Given the description of an element on the screen output the (x, y) to click on. 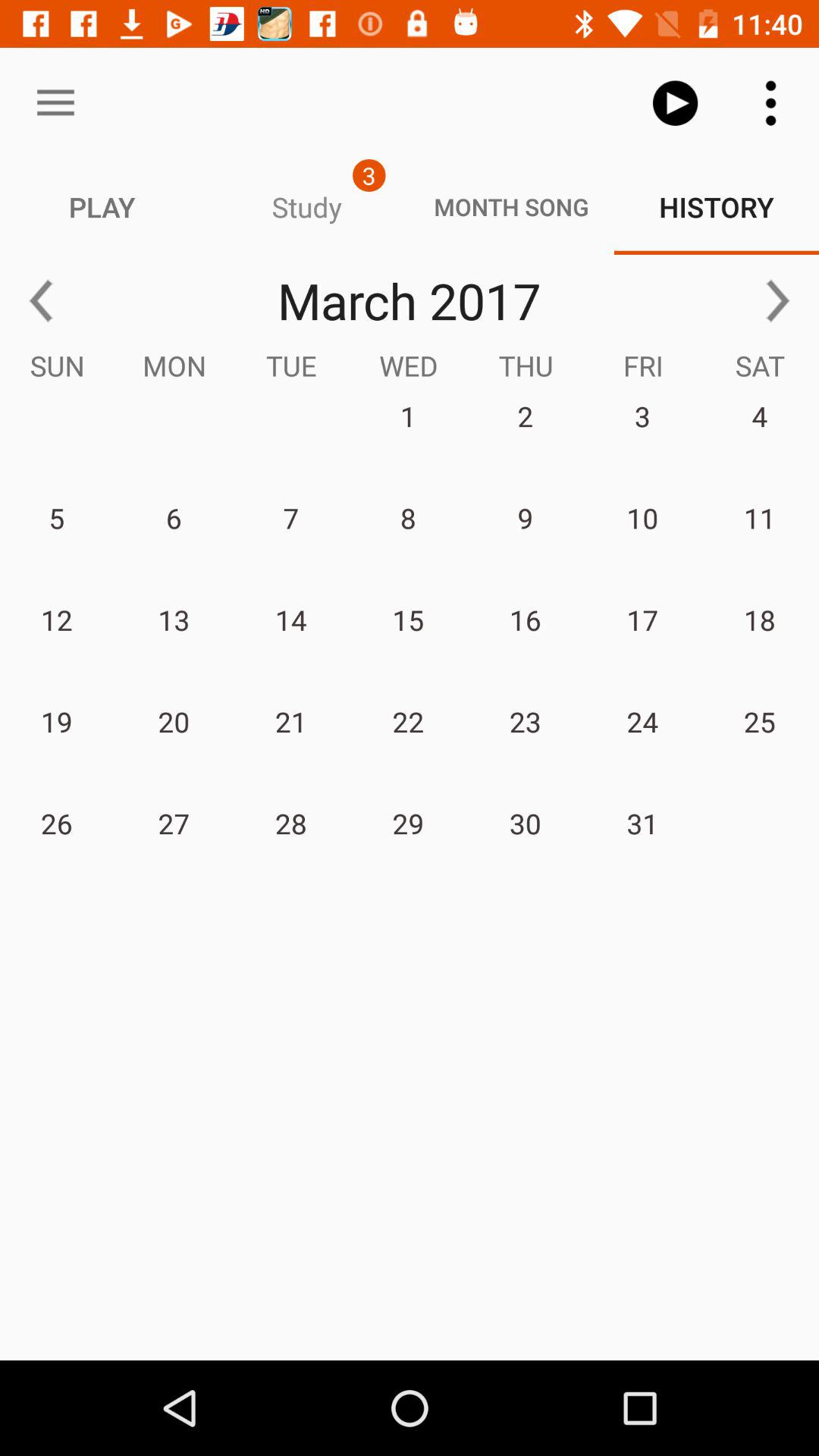
tap the item above the history (675, 103)
